Given the description of an element on the screen output the (x, y) to click on. 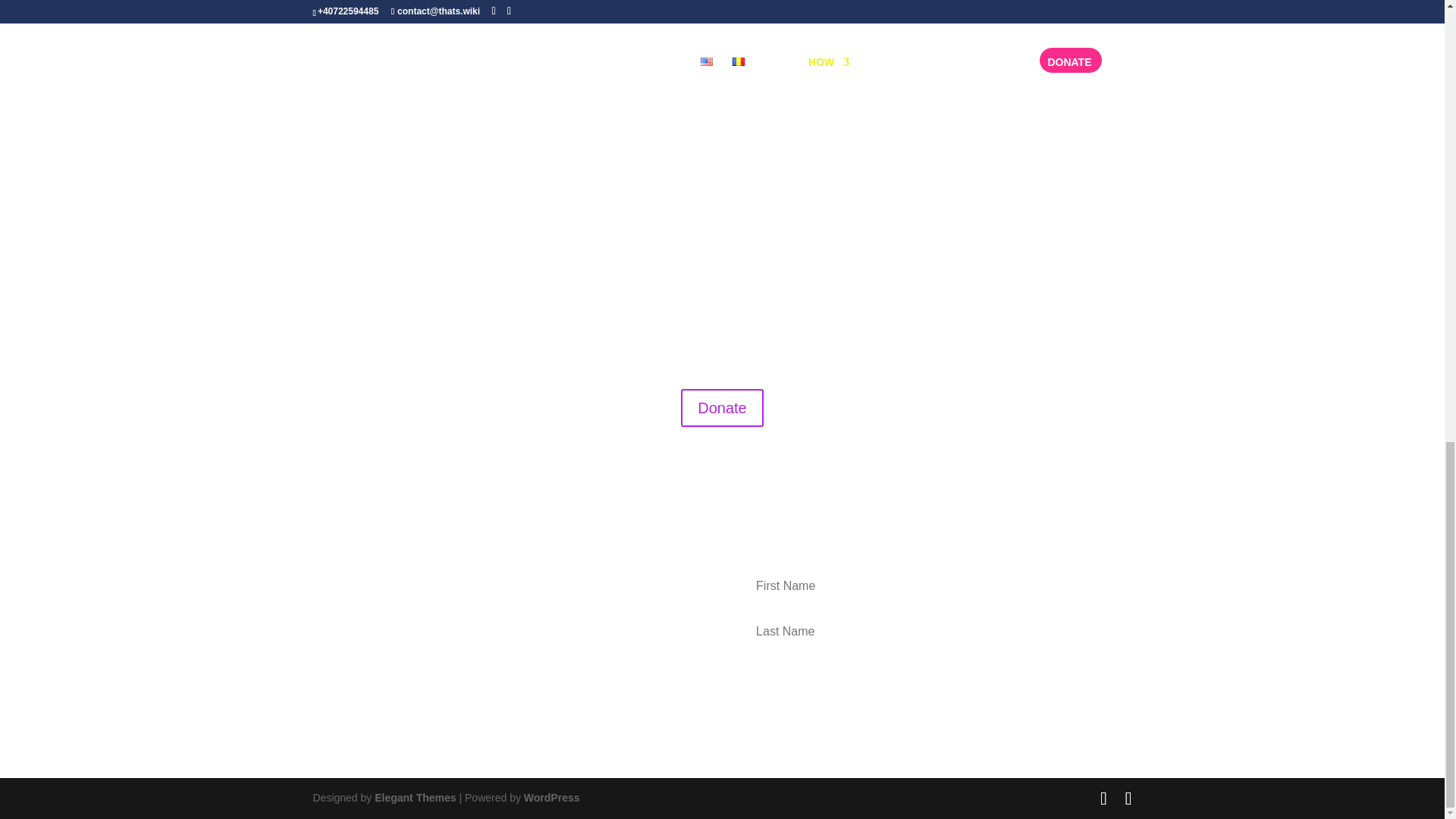
Donate (721, 407)
Elegant Themes (414, 797)
Subscribe (927, 678)
WordPress (551, 797)
Premium WordPress Themes (414, 797)
